Given the description of an element on the screen output the (x, y) to click on. 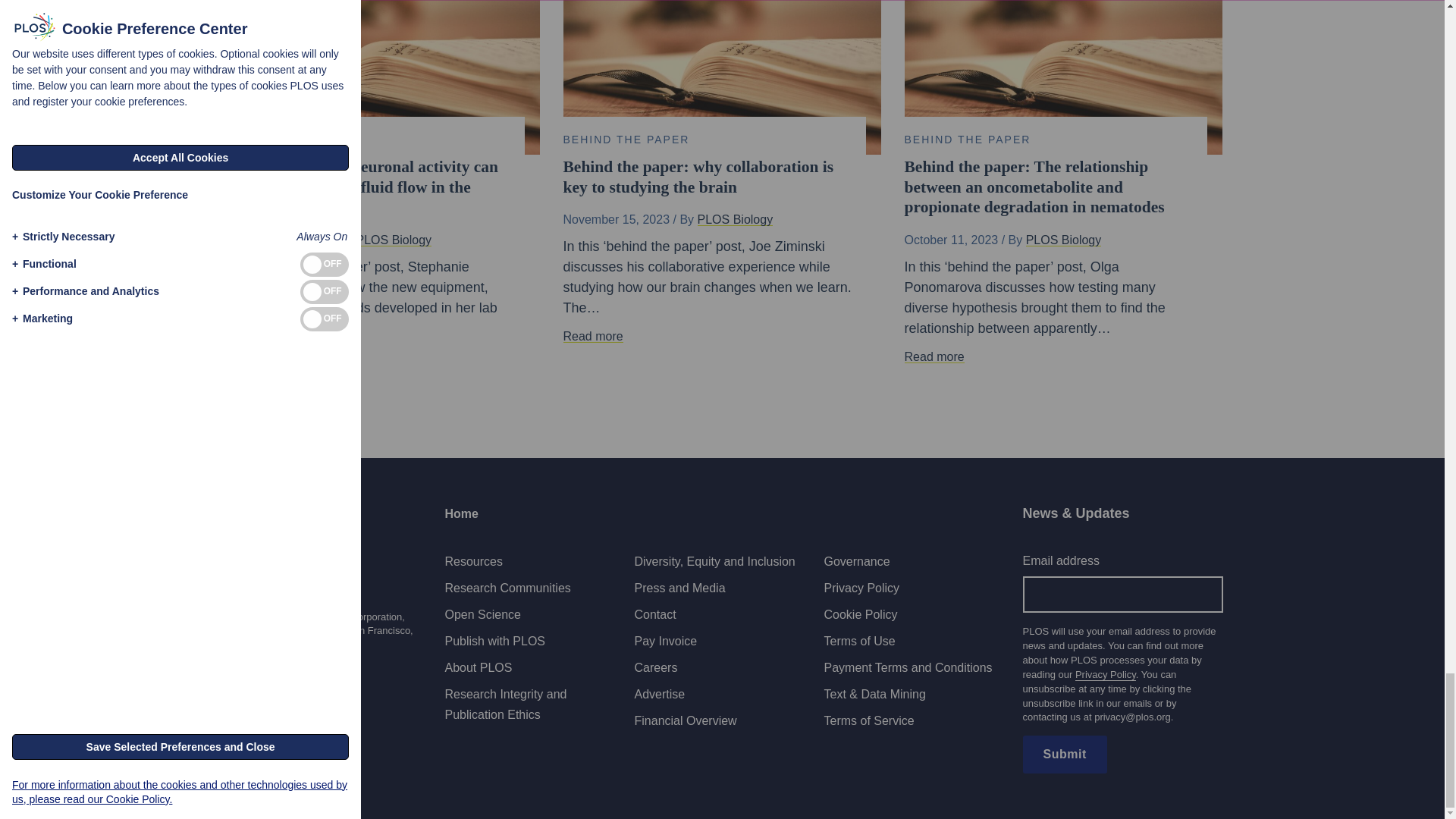
Submit (1064, 754)
